Given the description of an element on the screen output the (x, y) to click on. 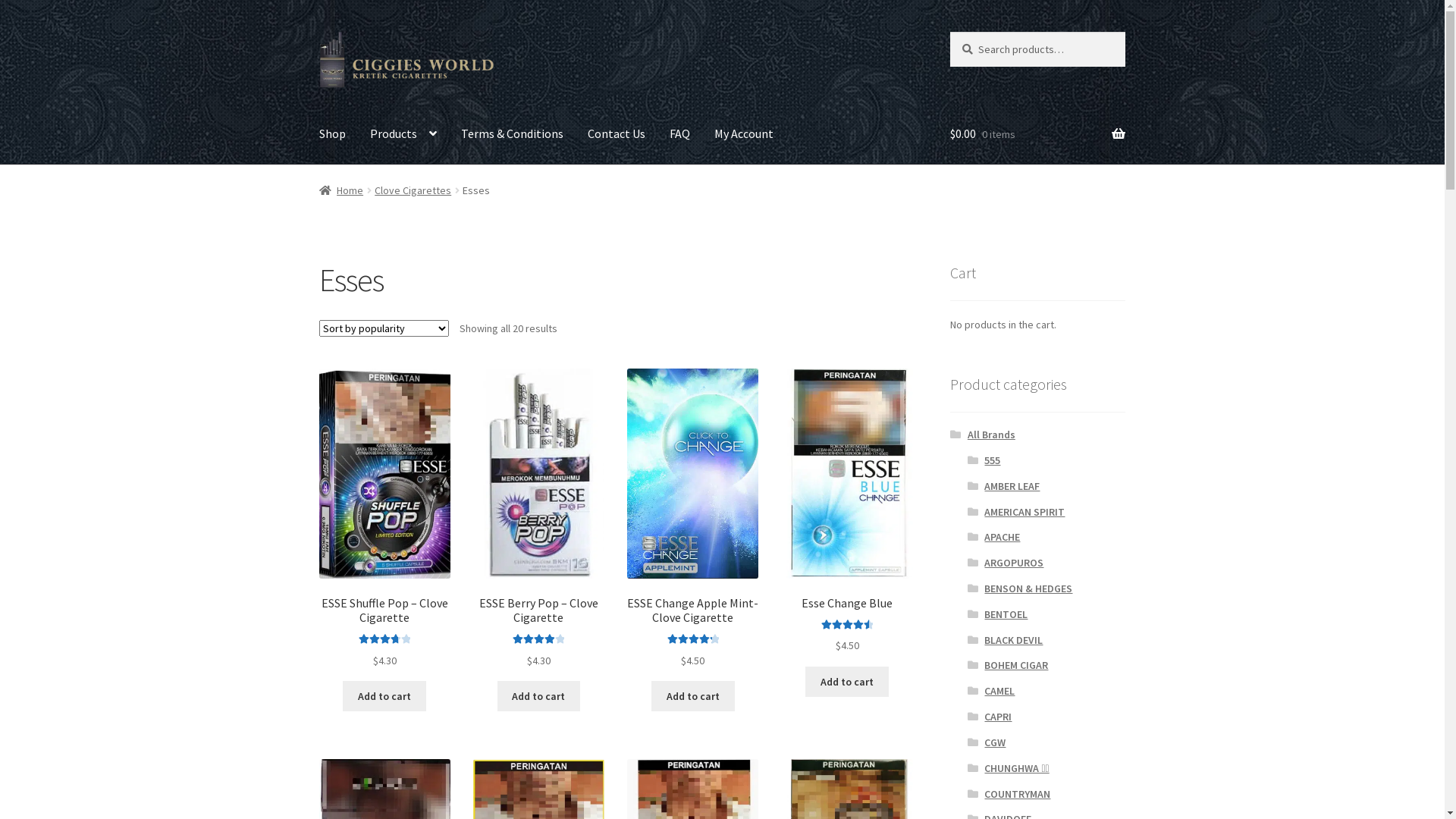
Esse Change Blue
Rated out of 5
$4.50 Element type: text (846, 511)
Contact Us Element type: text (616, 133)
555 Element type: text (992, 460)
BOHEM CIGAR Element type: text (1016, 664)
Skip to navigation Element type: text (318, 31)
All Brands Element type: text (991, 434)
Home Element type: text (341, 190)
CGW Element type: text (994, 742)
CAPRI Element type: text (997, 716)
ESSE Change Apple Mint- Clove Cigarette
Rated out of 5
$4.50 Element type: text (692, 518)
BLACK DEVIL Element type: text (1013, 639)
AMERICAN SPIRIT Element type: text (1024, 511)
ARGOPUROS Element type: text (1013, 562)
Add to cart Element type: text (384, 695)
Terms & Conditions Element type: text (511, 133)
Shop Element type: text (332, 133)
APACHE Element type: text (1001, 536)
Clove Cigarettes Element type: text (412, 190)
$0.00 0 items Element type: text (1037, 133)
Add to cart Element type: text (538, 695)
Add to cart Element type: text (692, 695)
BENSON & HEDGES Element type: text (1028, 588)
Search Element type: text (949, 31)
Products Element type: text (402, 133)
AMBER LEAF Element type: text (1011, 485)
CAMEL Element type: text (999, 690)
COUNTRYMAN Element type: text (1017, 793)
Add to cart Element type: text (846, 681)
My Account Element type: text (743, 133)
BENTOEL Element type: text (1005, 614)
FAQ Element type: text (679, 133)
